Given the description of an element on the screen output the (x, y) to click on. 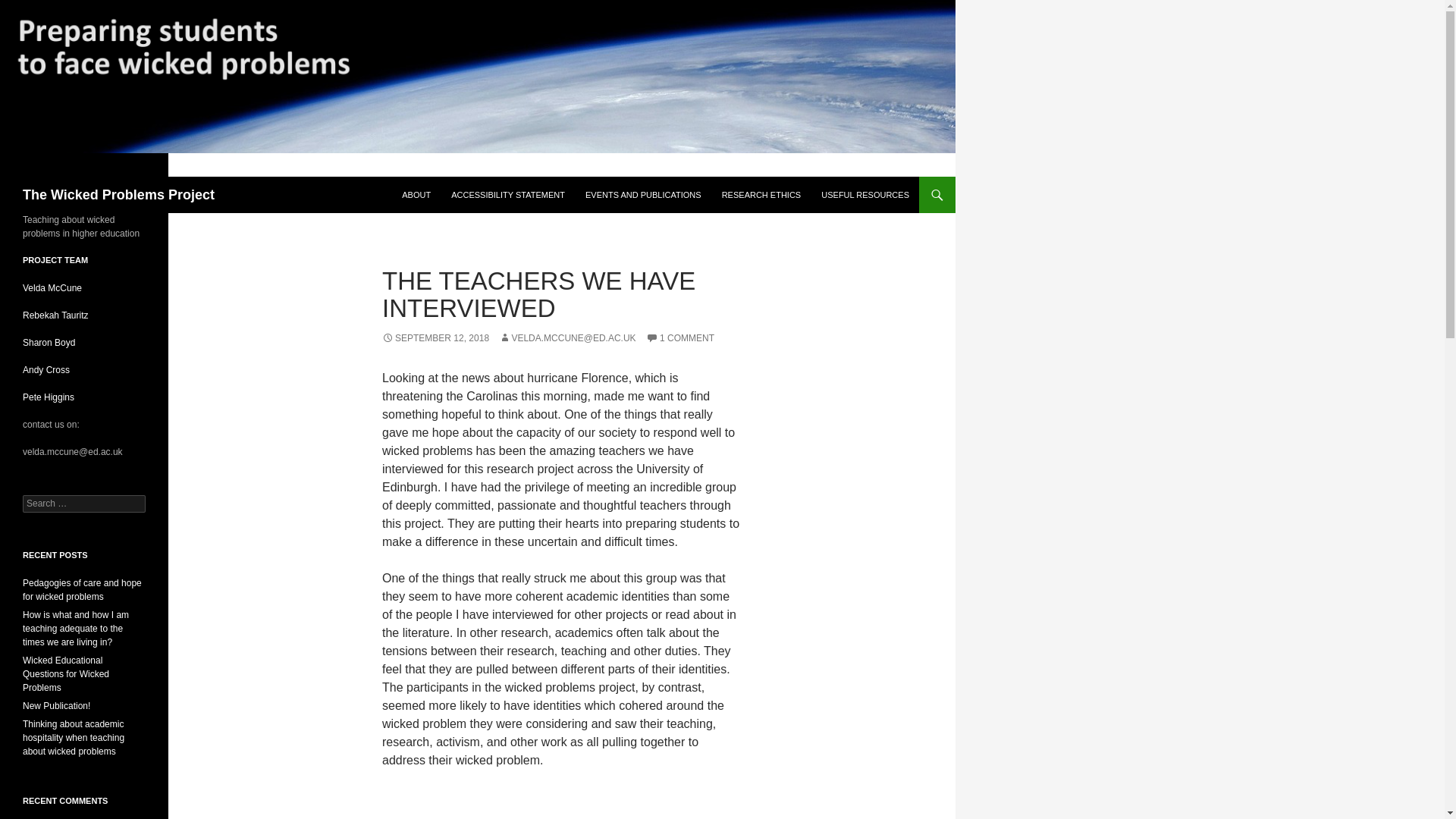
Velda McCune  (53, 287)
The Wicked Problems Project (118, 194)
1 COMMENT (680, 337)
New Publication! (56, 706)
SEPTEMBER 12, 2018 (435, 337)
RESEARCH ETHICS (761, 194)
Pedagogies of care and hope for wicked problems (82, 589)
Search (30, 8)
ABOUT (416, 194)
USEFUL RESOURCES (865, 194)
EVENTS AND PUBLICATIONS (643, 194)
ACCESSIBILITY STATEMENT (507, 194)
